Given the description of an element on the screen output the (x, y) to click on. 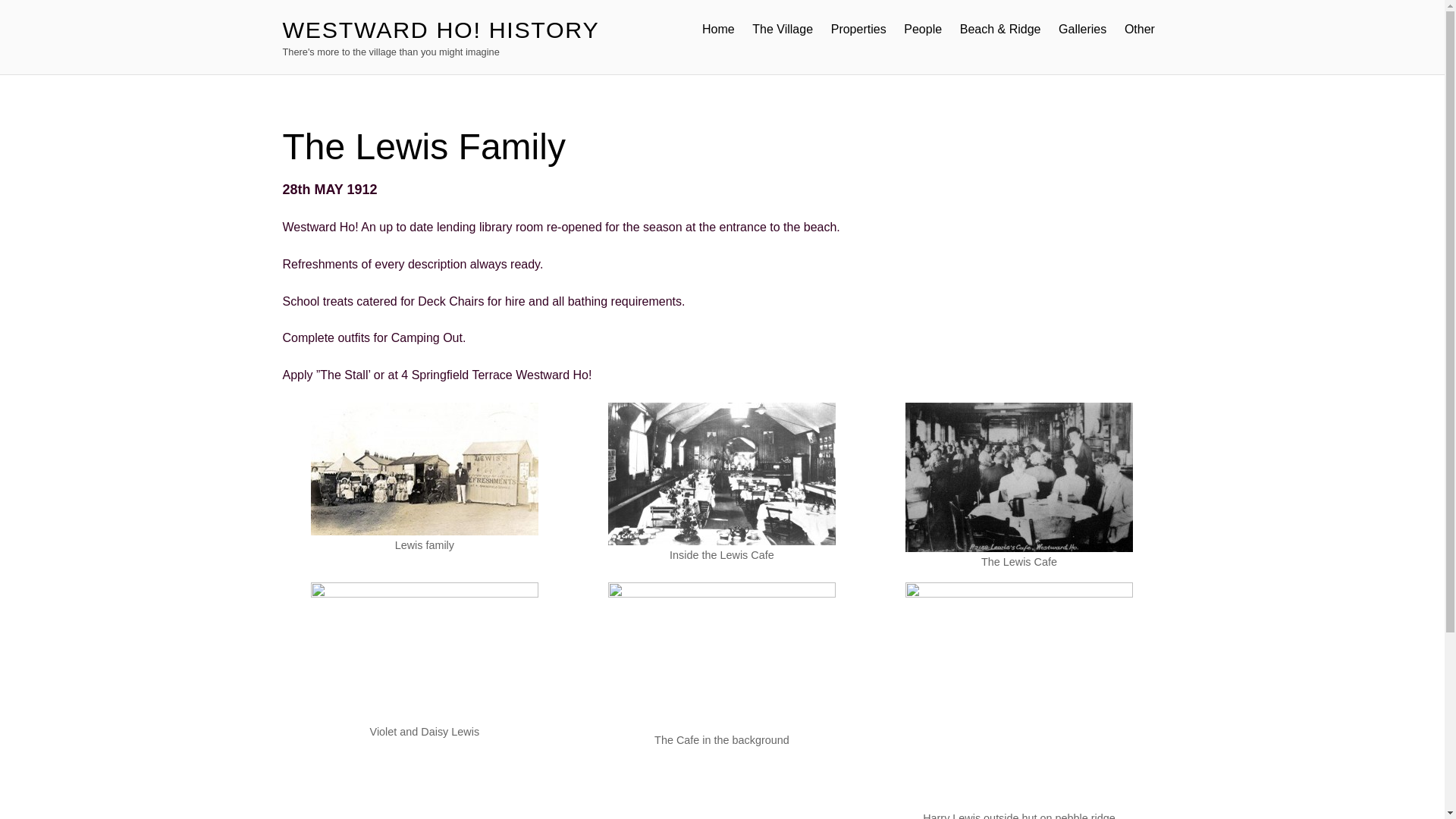
Westward Ho! History (440, 29)
Home (717, 29)
WESTWARD HO! HISTORY (440, 29)
The Village (783, 29)
Galleries (1082, 29)
People (922, 29)
Properties (858, 29)
